Given the description of an element on the screen output the (x, y) to click on. 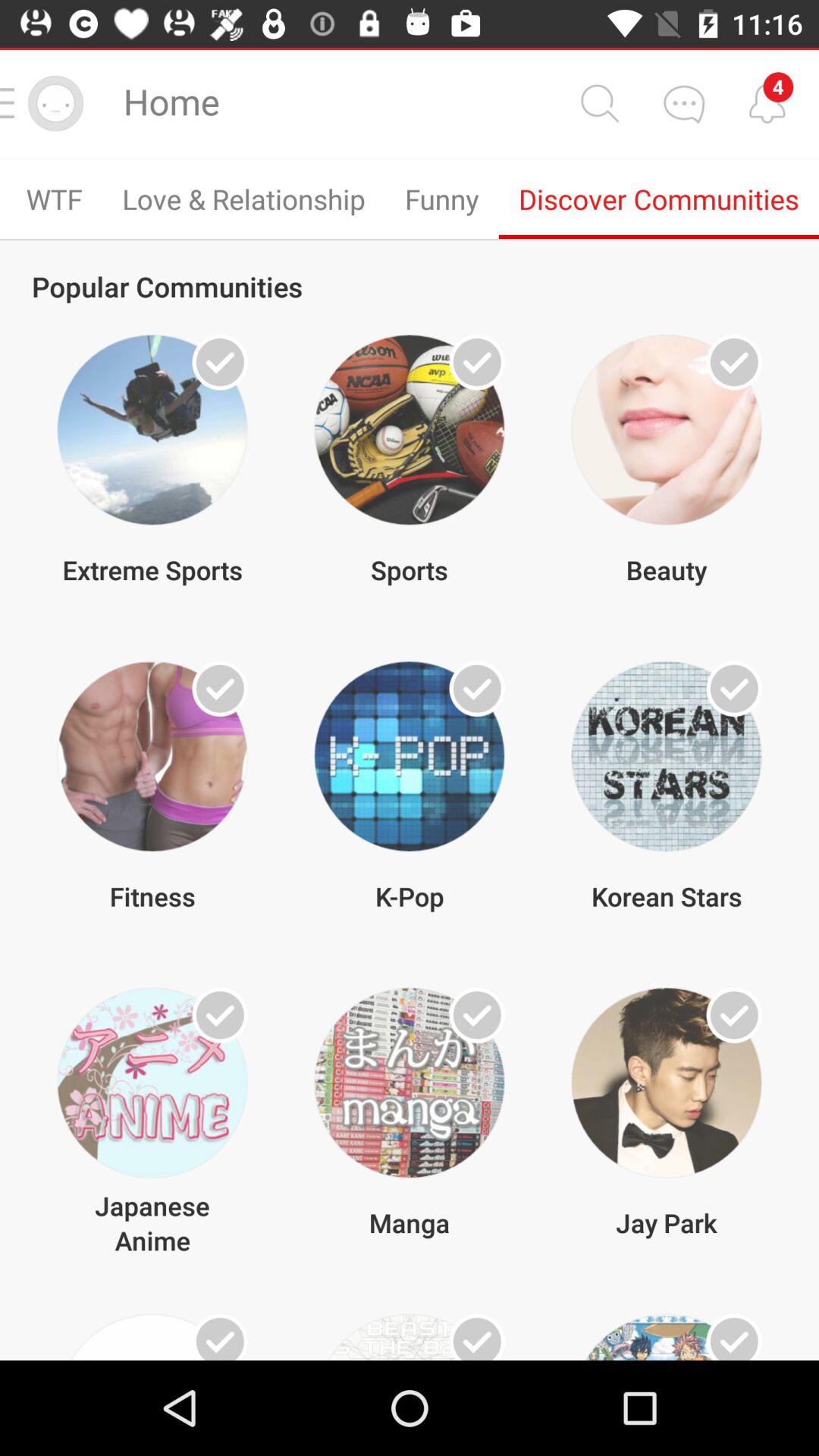
view notifications (766, 103)
